Given the description of an element on the screen output the (x, y) to click on. 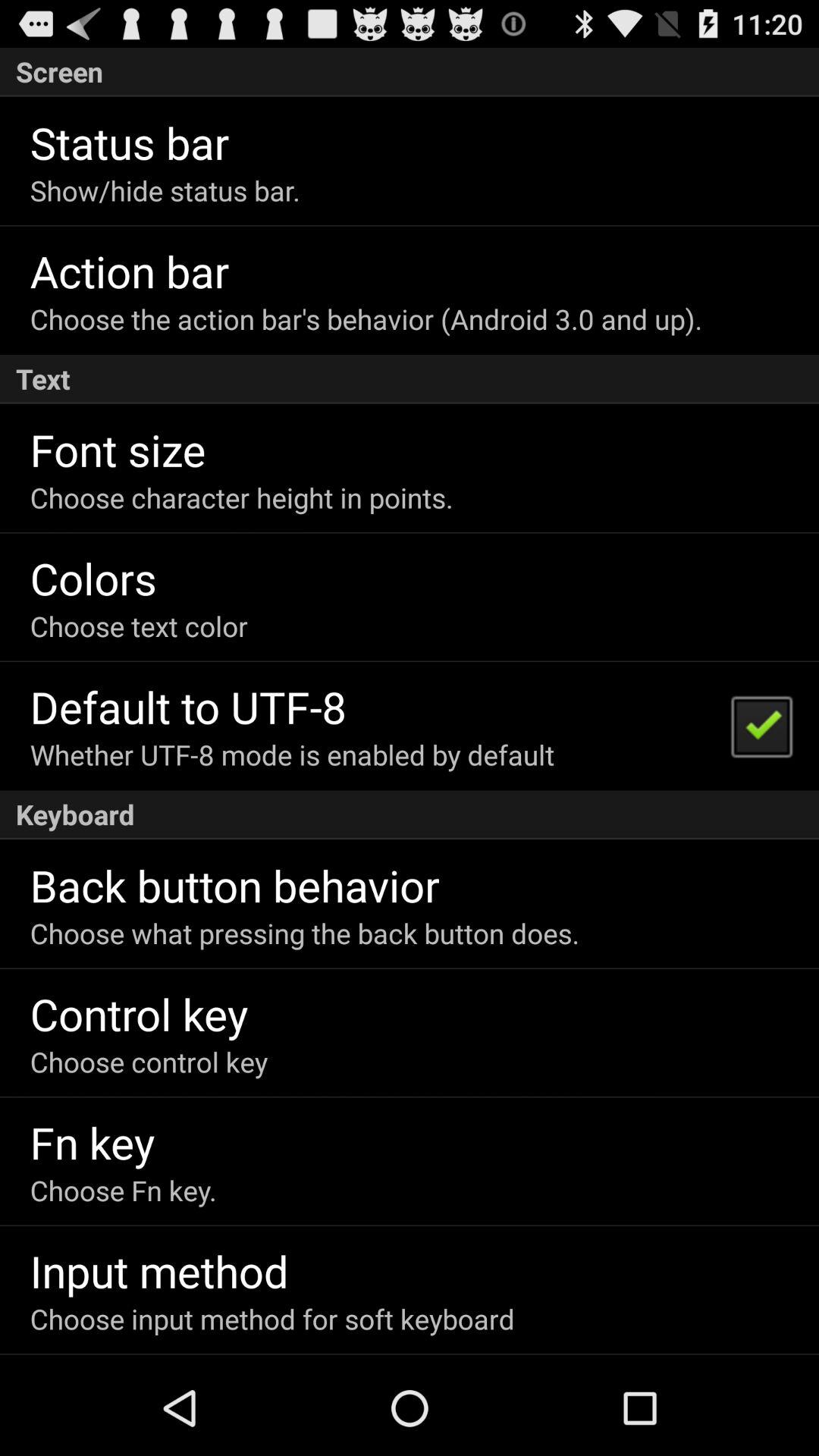
scroll to the screen app (409, 71)
